Given the description of an element on the screen output the (x, y) to click on. 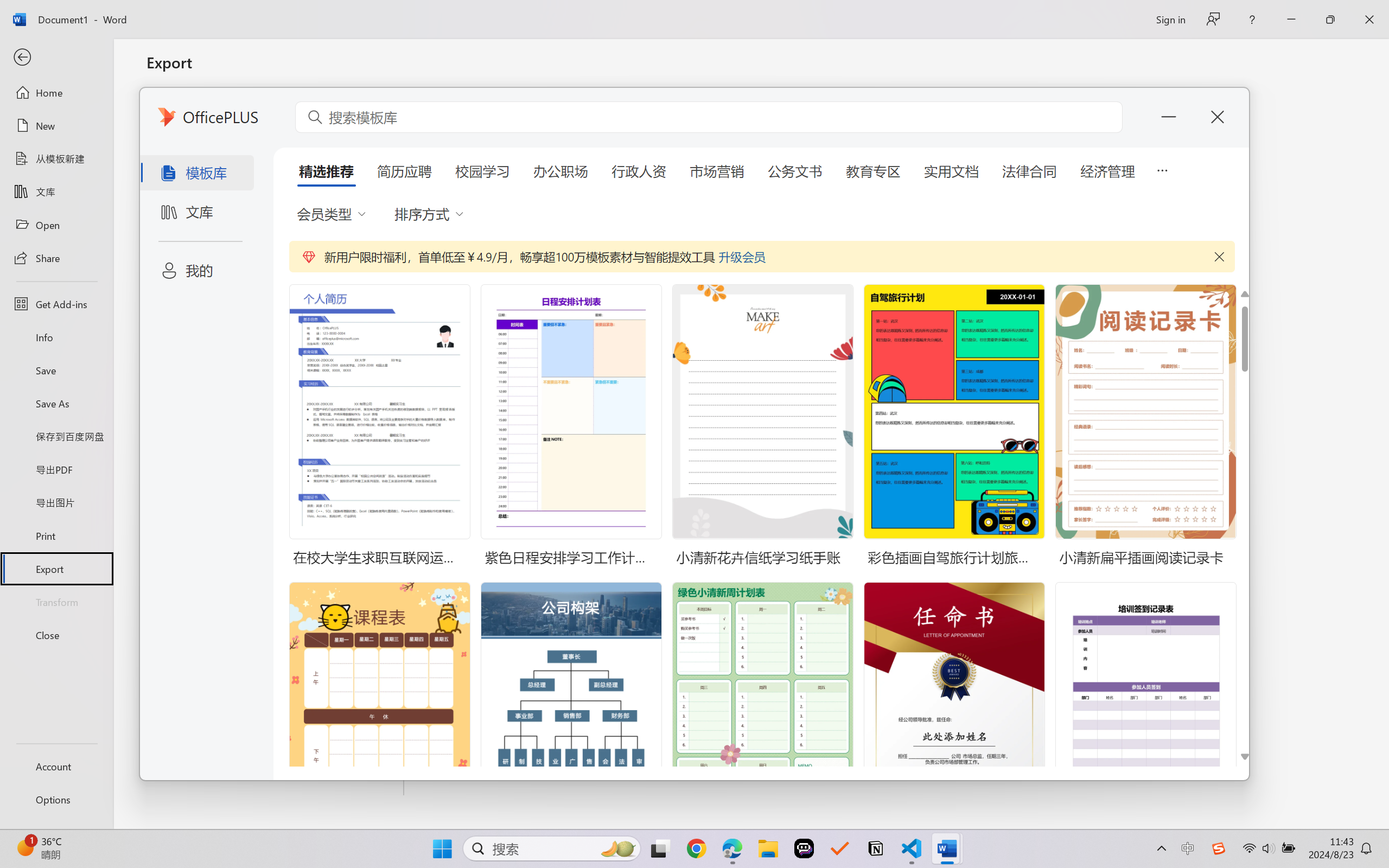
Options (56, 798)
Transform (56, 601)
Info (56, 337)
Export (56, 568)
